Given the description of an element on the screen output the (x, y) to click on. 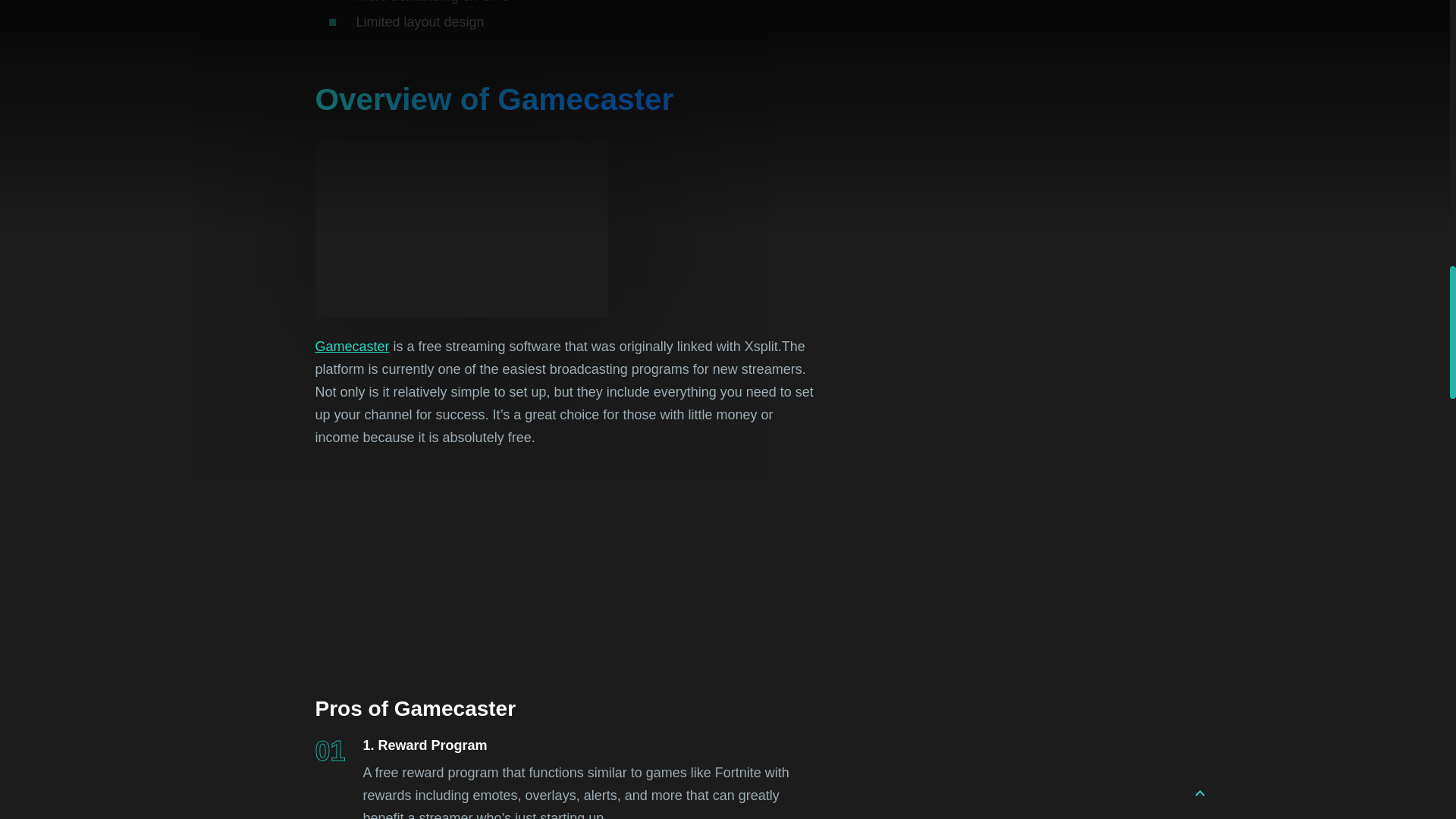
Gamecaster (352, 346)
